Given the description of an element on the screen output the (x, y) to click on. 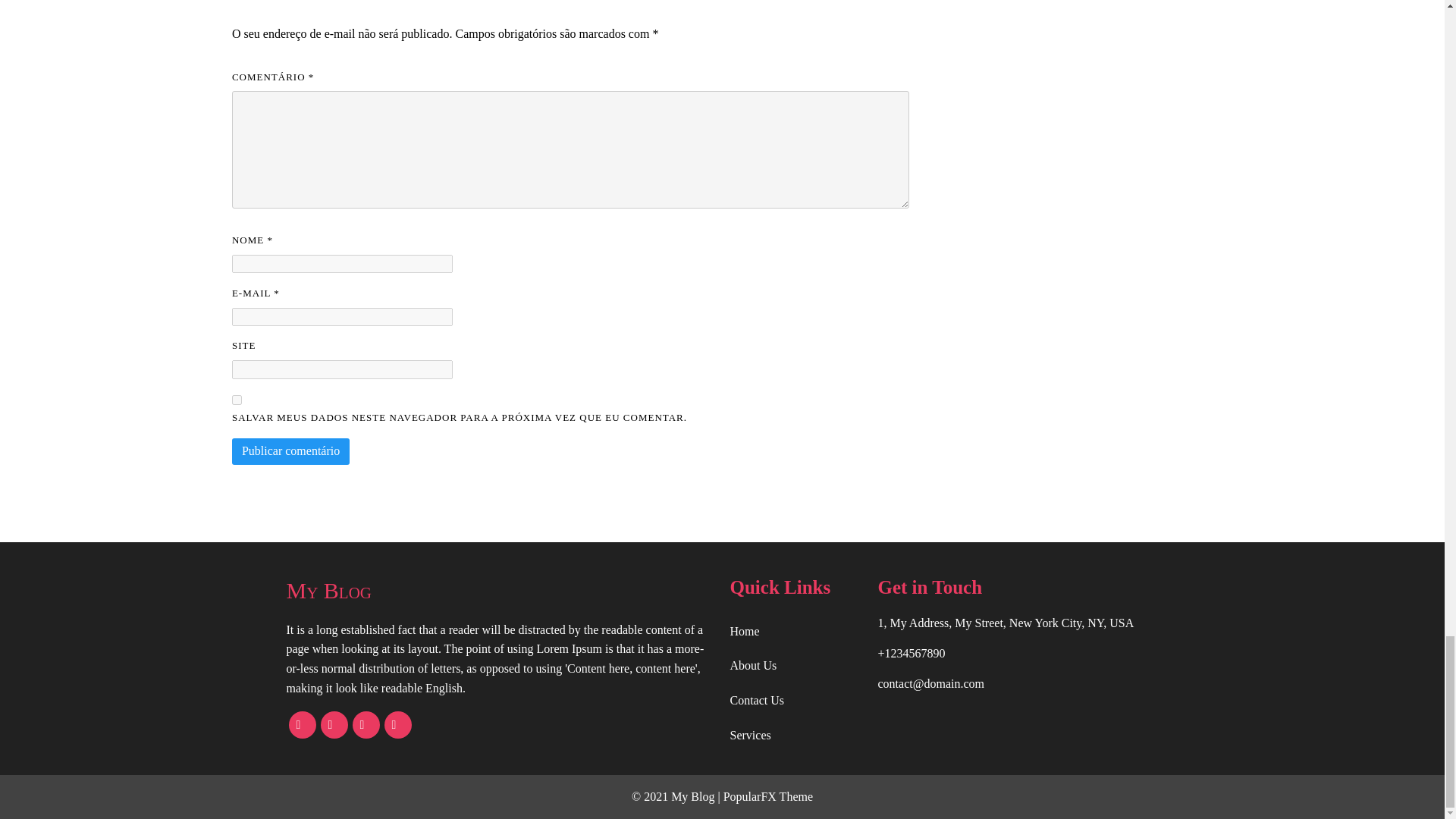
yes (236, 399)
My Blog (500, 590)
PopularFX Theme (767, 796)
